Given the description of an element on the screen output the (x, y) to click on. 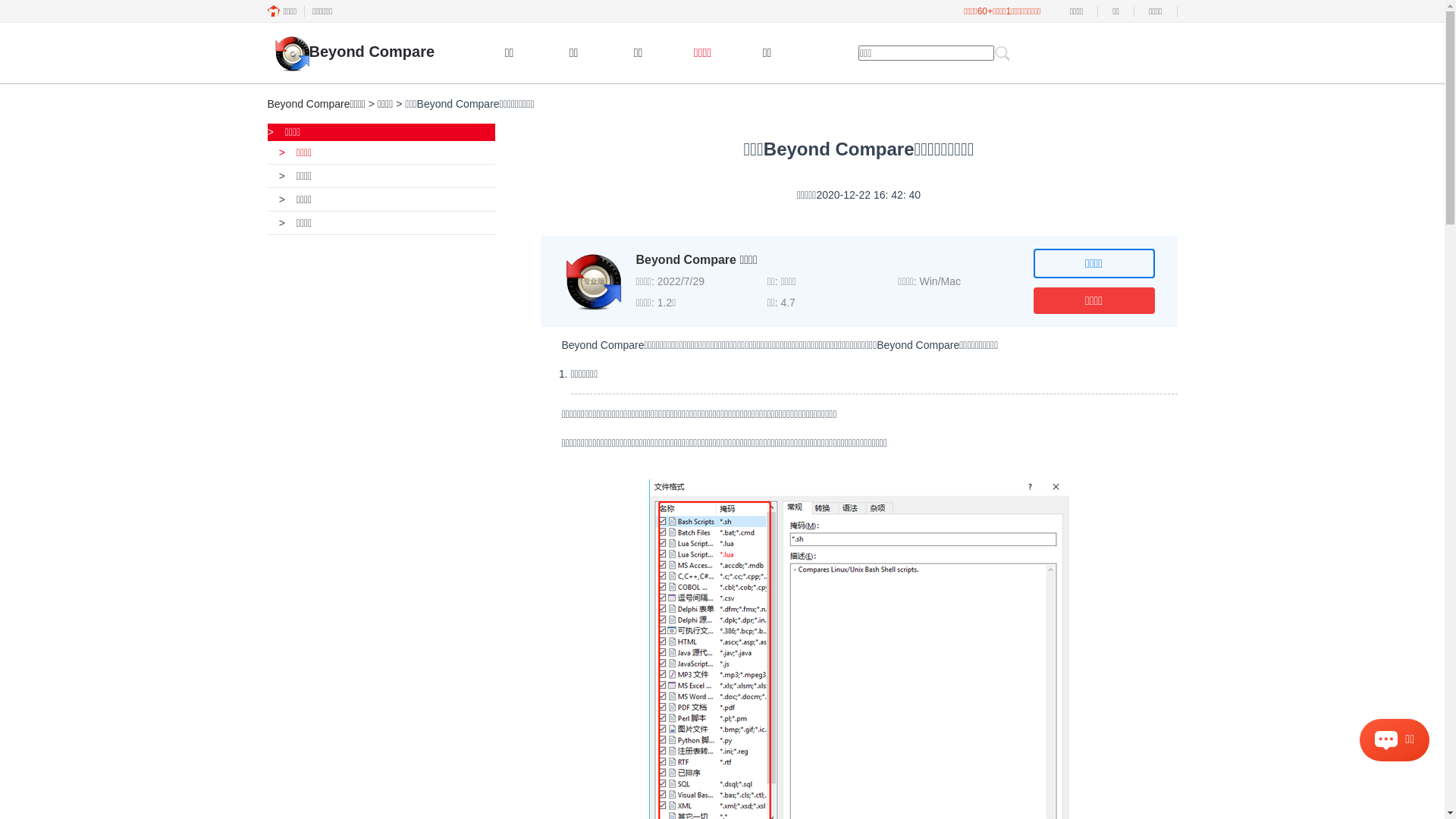
Beyond Compare Element type: text (350, 53)
